Given the description of an element on the screen output the (x, y) to click on. 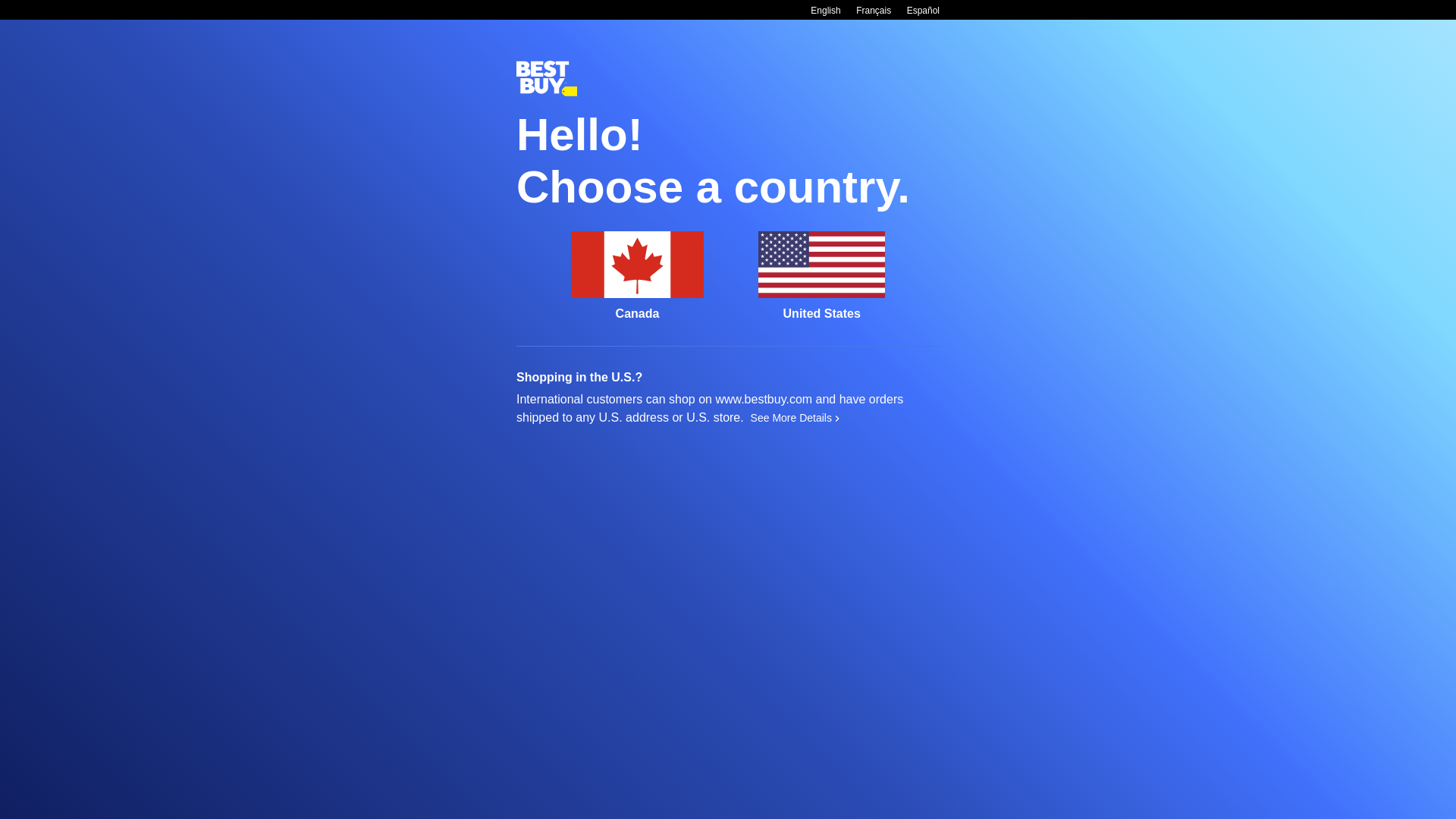
United States (821, 275)
Canada (637, 275)
See More Details (795, 417)
English (825, 10)
